Given the description of an element on the screen output the (x, y) to click on. 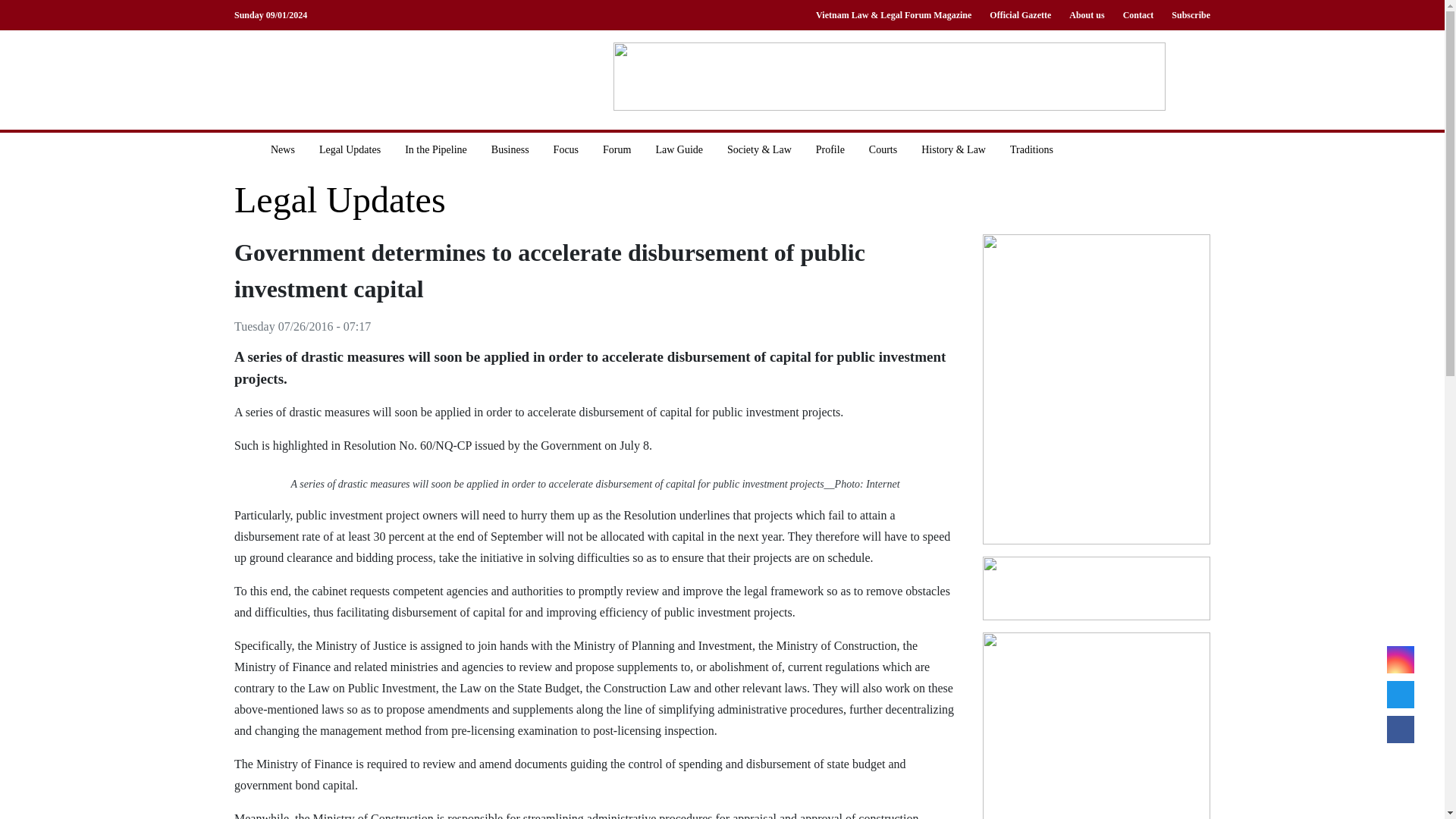
Legal Updates (350, 149)
Subscribe (1185, 15)
Profile (830, 149)
Traditions (1031, 149)
News (283, 149)
Legal Updates (339, 200)
Contact (1138, 15)
logo (359, 79)
Forum (617, 149)
home (246, 149)
